Given the description of an element on the screen output the (x, y) to click on. 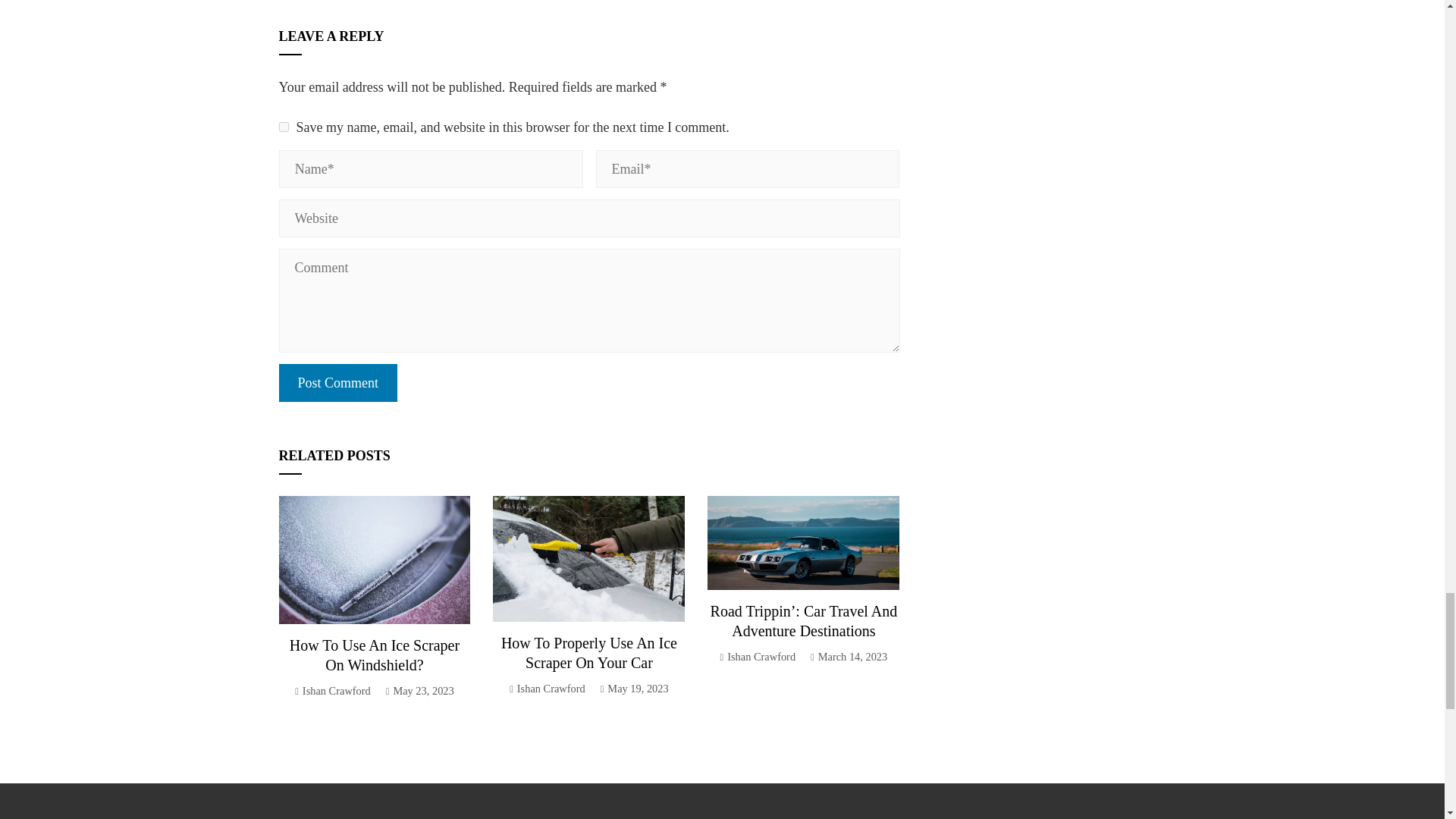
How To Use An Ice Scraper On Windshield? (374, 655)
How to Use an Ice Scraper on Windshield? (374, 655)
Post Comment (338, 382)
Post Comment (338, 382)
yes (283, 126)
How to Properly Use an Ice Scraper on Your Car (588, 652)
